Given the description of an element on the screen output the (x, y) to click on. 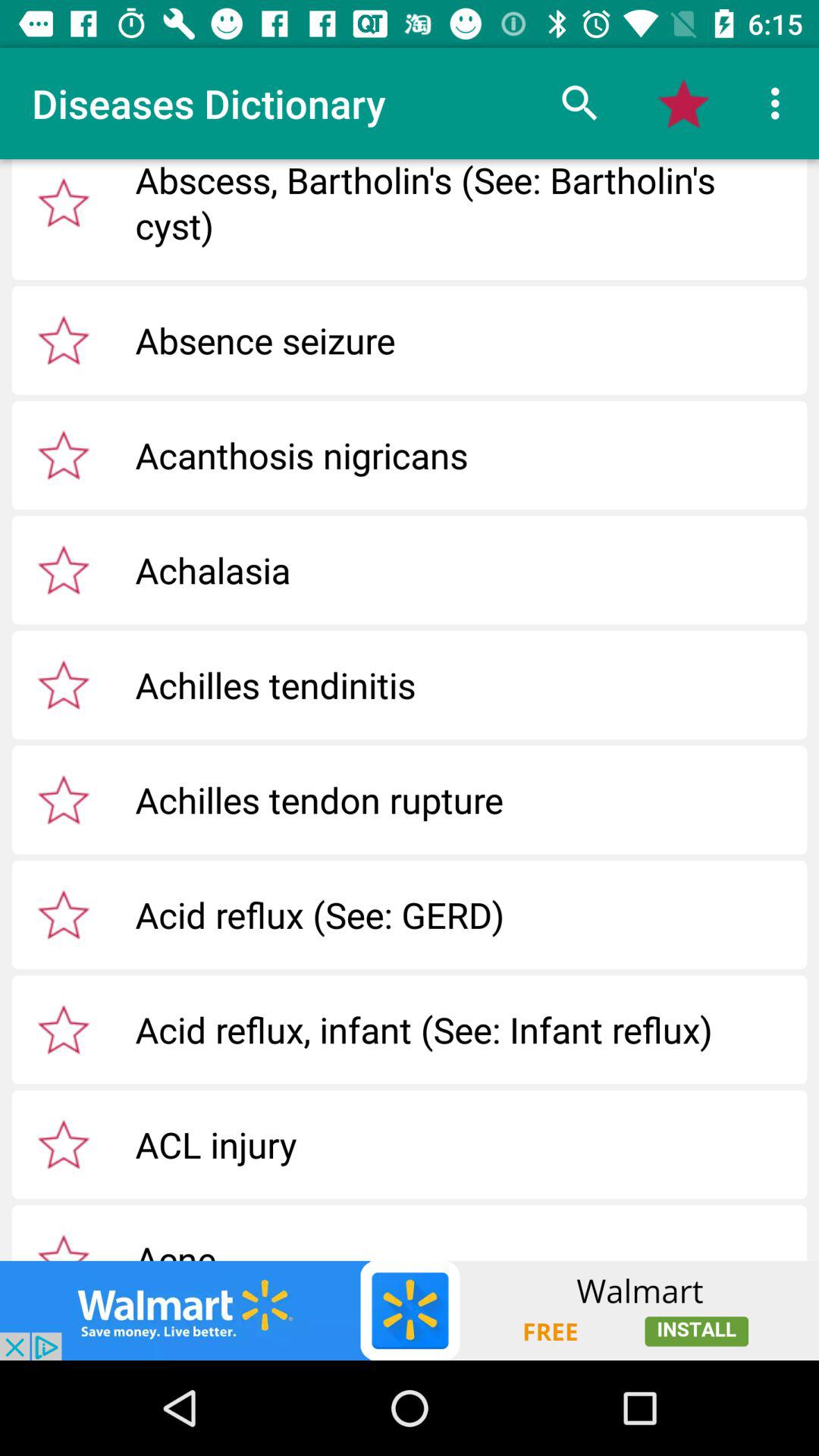
way to star or note the category (63, 202)
